Given the description of an element on the screen output the (x, y) to click on. 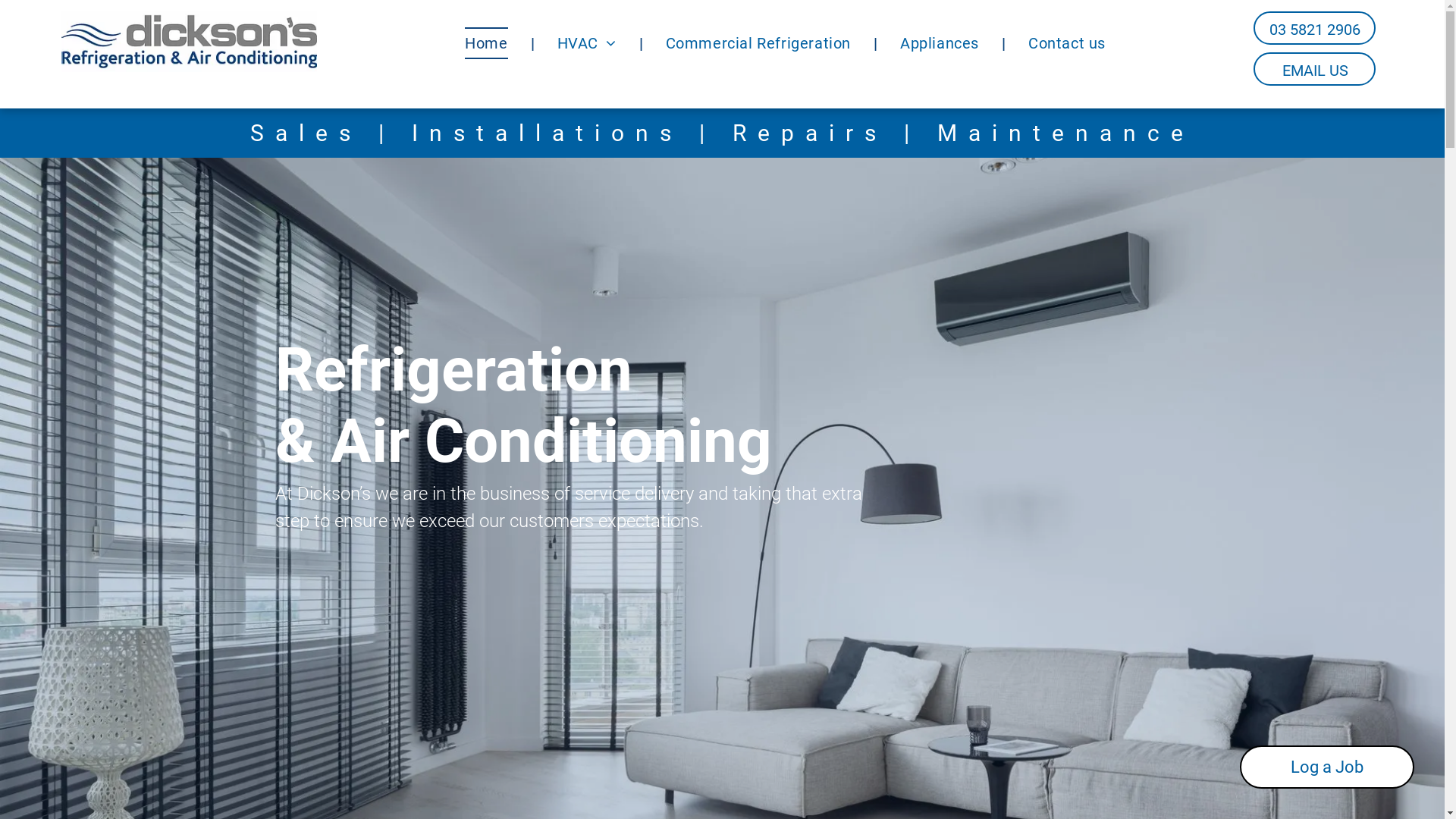
Home Element type: text (486, 43)
HVAC Element type: text (586, 43)
Log a Job Element type: text (1326, 766)
Contact us Element type: text (1066, 43)
03 5821 2906 Element type: text (1314, 27)
Commercial Refrigeration Element type: text (758, 43)
EMAIL US Element type: text (1314, 68)
Appliances Element type: text (939, 43)
